Given the description of an element on the screen output the (x, y) to click on. 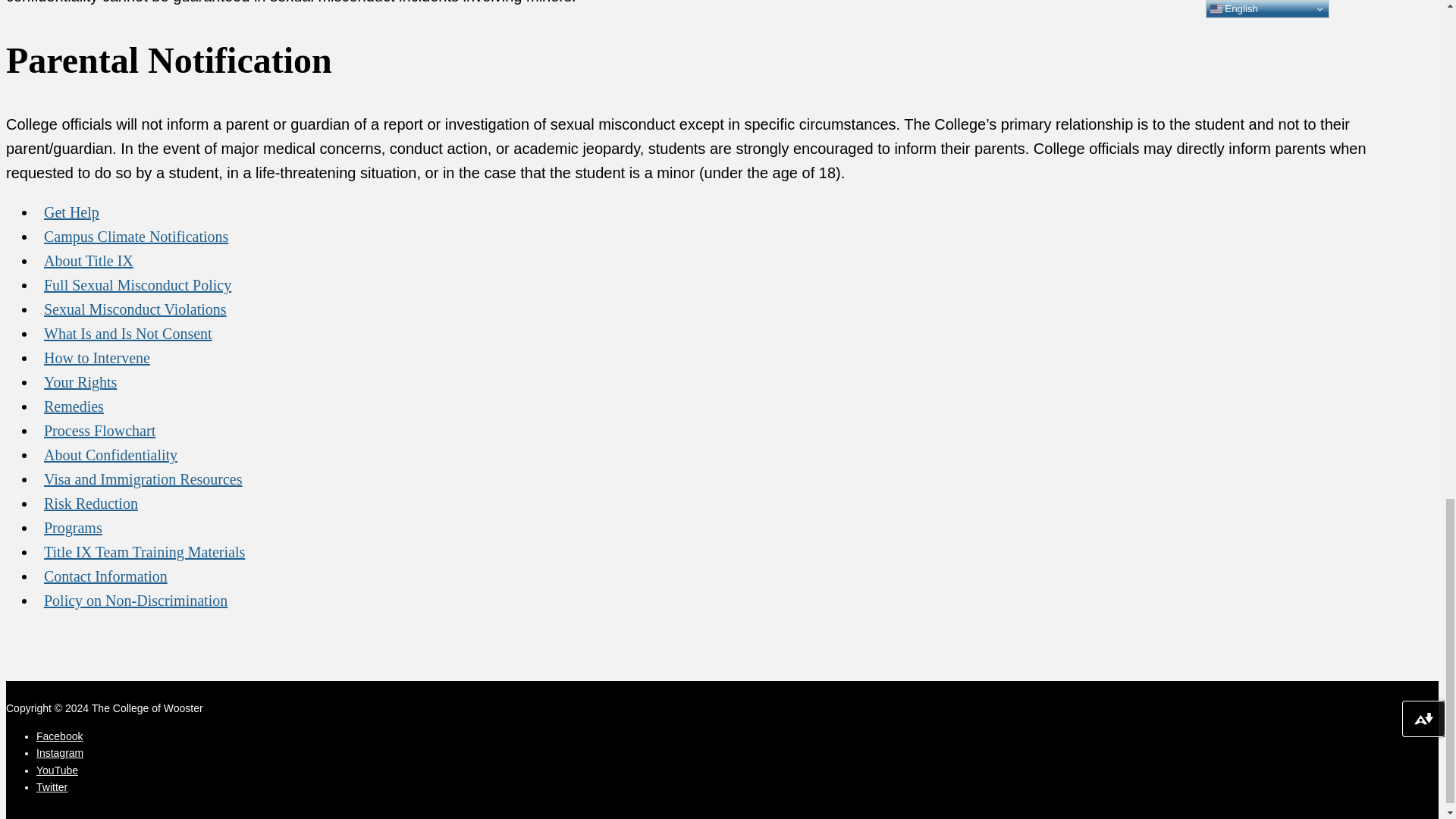
Sexual Misconduct Violations (135, 309)
Programs (73, 527)
Contact Information (105, 576)
Instagram (59, 752)
Title IX Team Training Materials (143, 552)
What Is and Is Not Consent (127, 333)
Twitter (51, 787)
Policy on Non-Discrimination (135, 600)
Visa and Immigration Resources (143, 479)
Process Flowchart (99, 430)
Your Rights (79, 382)
Full Sexual Misconduct Policy (137, 285)
About Confidentiality (110, 454)
Campus Climate Notifications (135, 236)
About Title IX (88, 260)
